Given the description of an element on the screen output the (x, y) to click on. 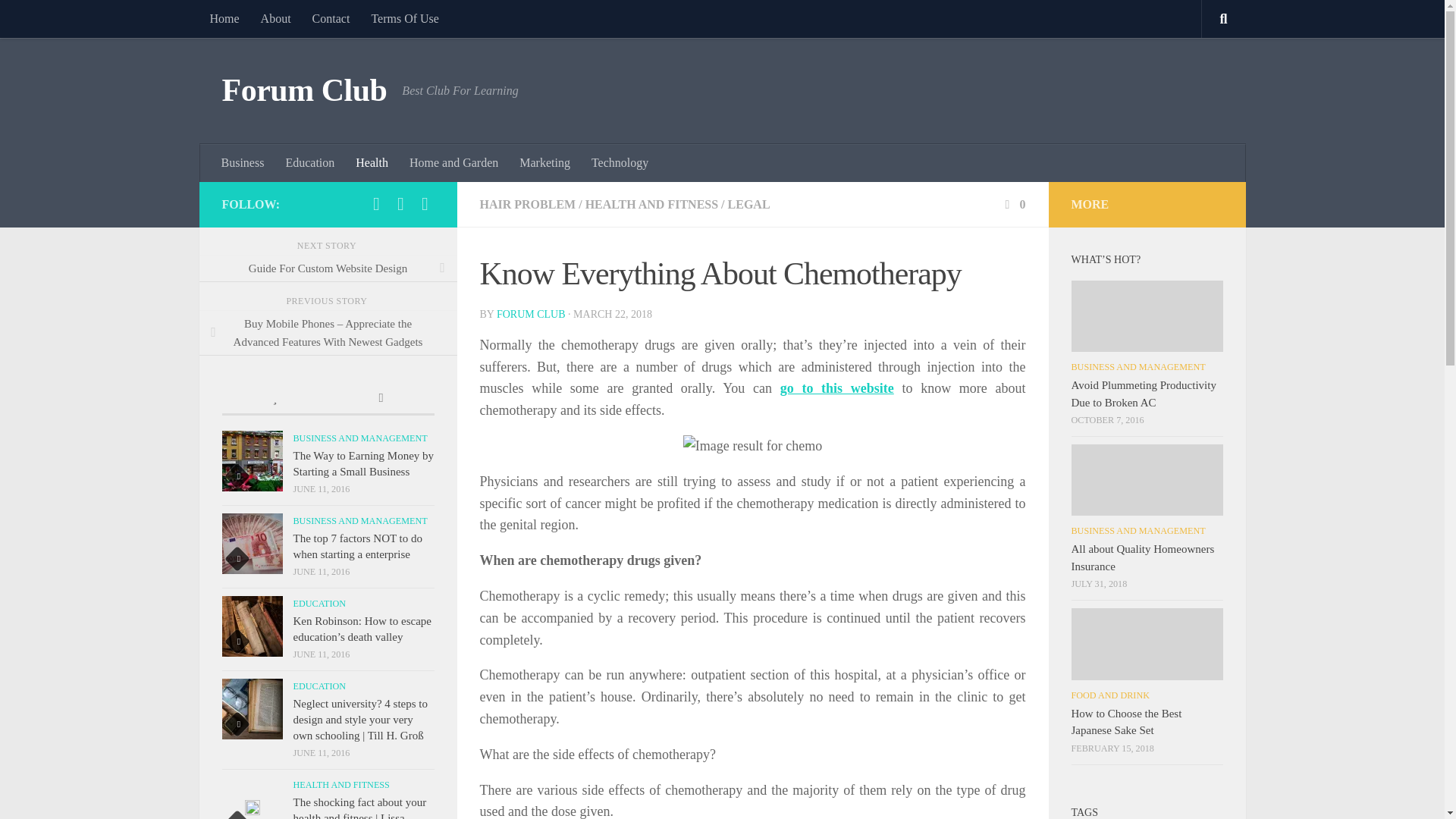
go to this website (836, 387)
Posts by Forum Club (531, 314)
Skip to content (59, 20)
LEGAL (749, 204)
Business (243, 162)
Forum Club (304, 90)
Follow us on Twitter (375, 203)
Health (371, 162)
Home (223, 18)
Home and Garden (453, 162)
About (275, 18)
0 (1013, 204)
Technology (619, 162)
Contact (331, 18)
HAIR PROBLEM (527, 204)
